Given the description of an element on the screen output the (x, y) to click on. 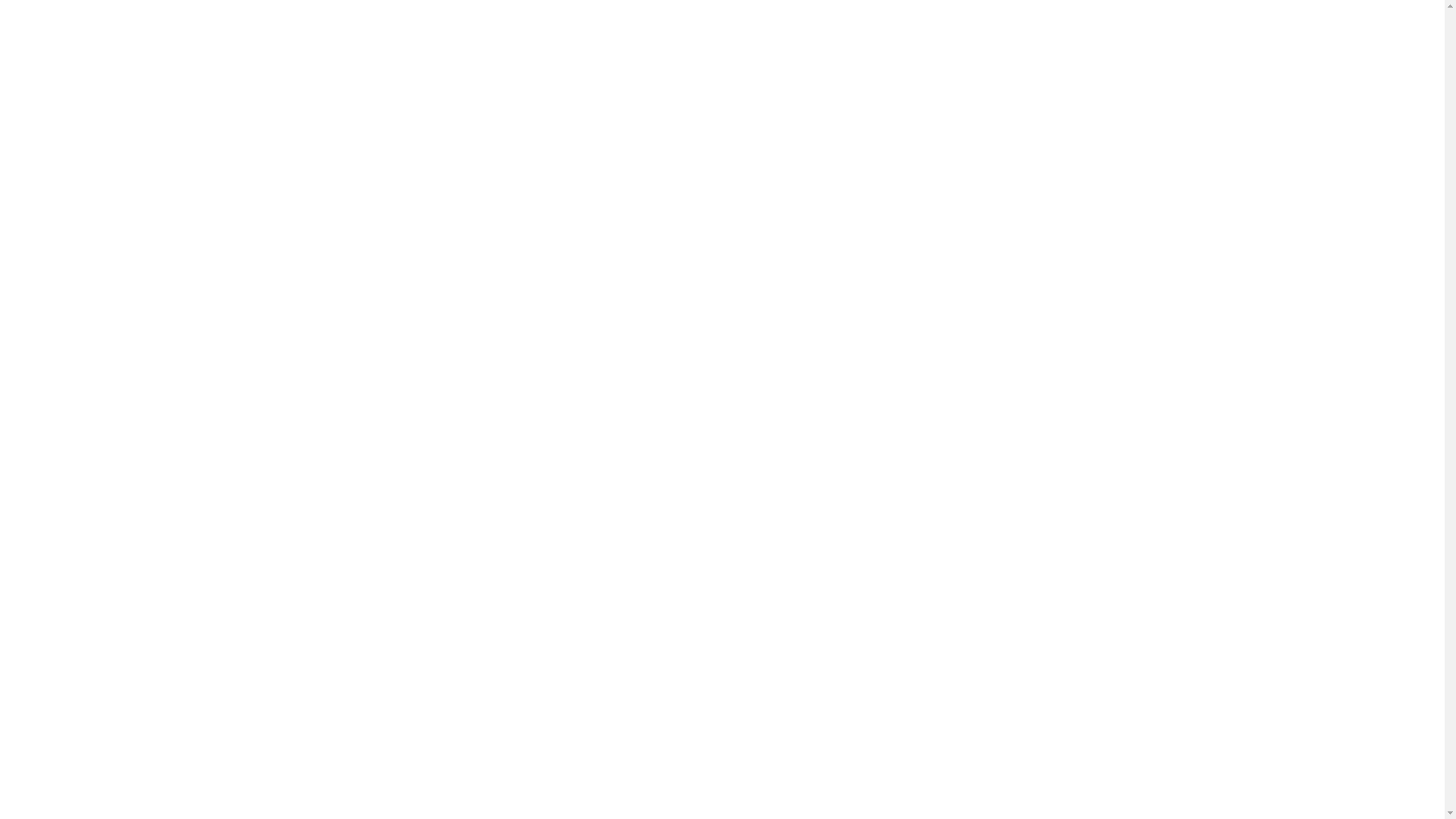
MIXED MEDIA Element type: text (691, 225)
dariusz wojdyga Element type: text (722, 330)
SCULPTURE/INSTALLATION Element type: text (691, 256)
JEWELLERY/WEARABLES Element type: text (691, 318)
BIO & CONTACT Element type: text (691, 287)
PAINTINGS Element type: text (691, 194)
